Given the description of an element on the screen output the (x, y) to click on. 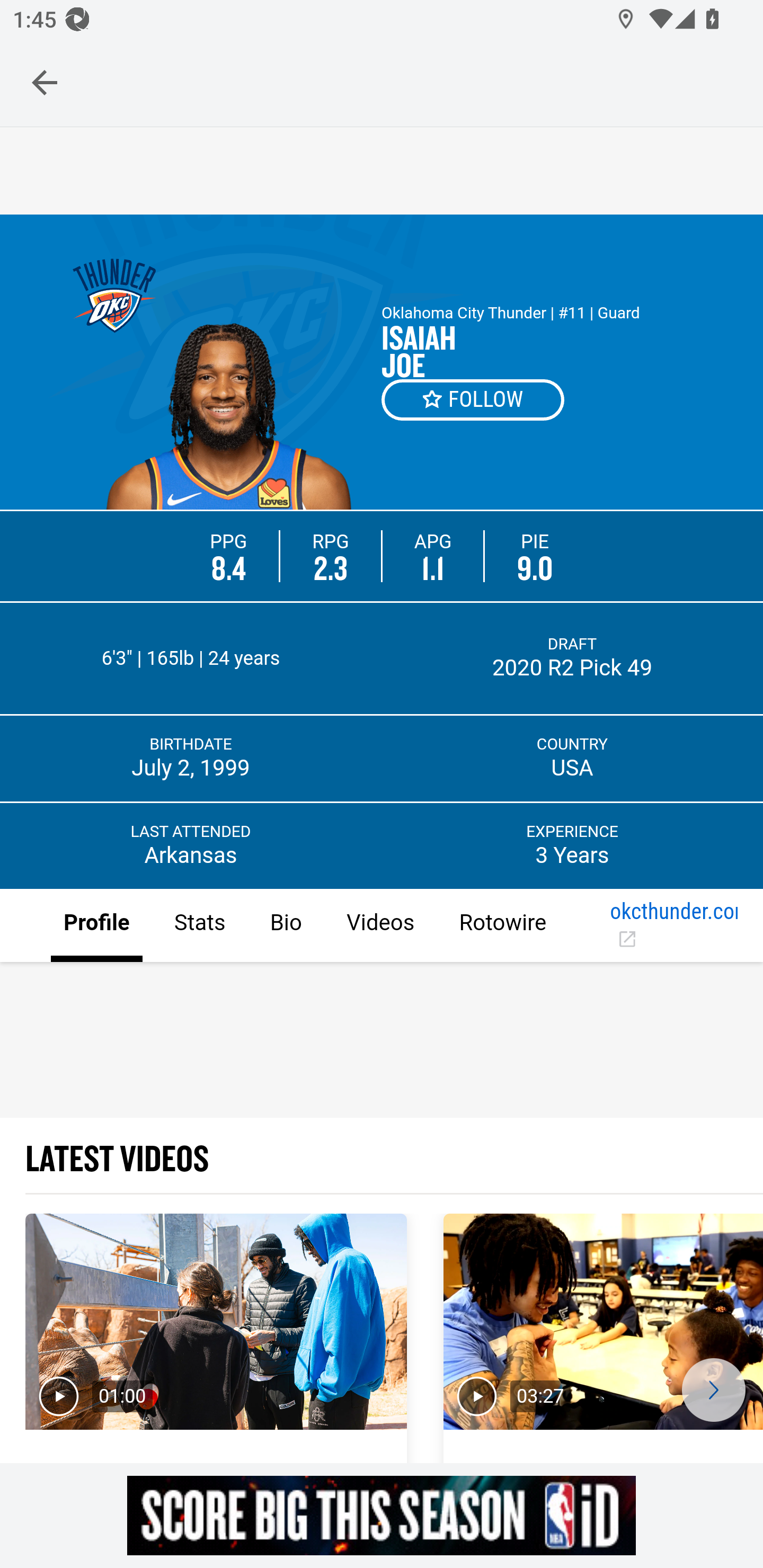
Navigate up (44, 82)
Oklahoma City Thunder Logo (114, 297)
FOLLOW (473, 399)
Profile (97, 926)
Stats (199, 926)
Bio (284, 926)
Videos (379, 926)
Rotowire (501, 926)
okcthunder.com (672, 926)
Carousel Button (713, 1389)
